Given the description of an element on the screen output the (x, y) to click on. 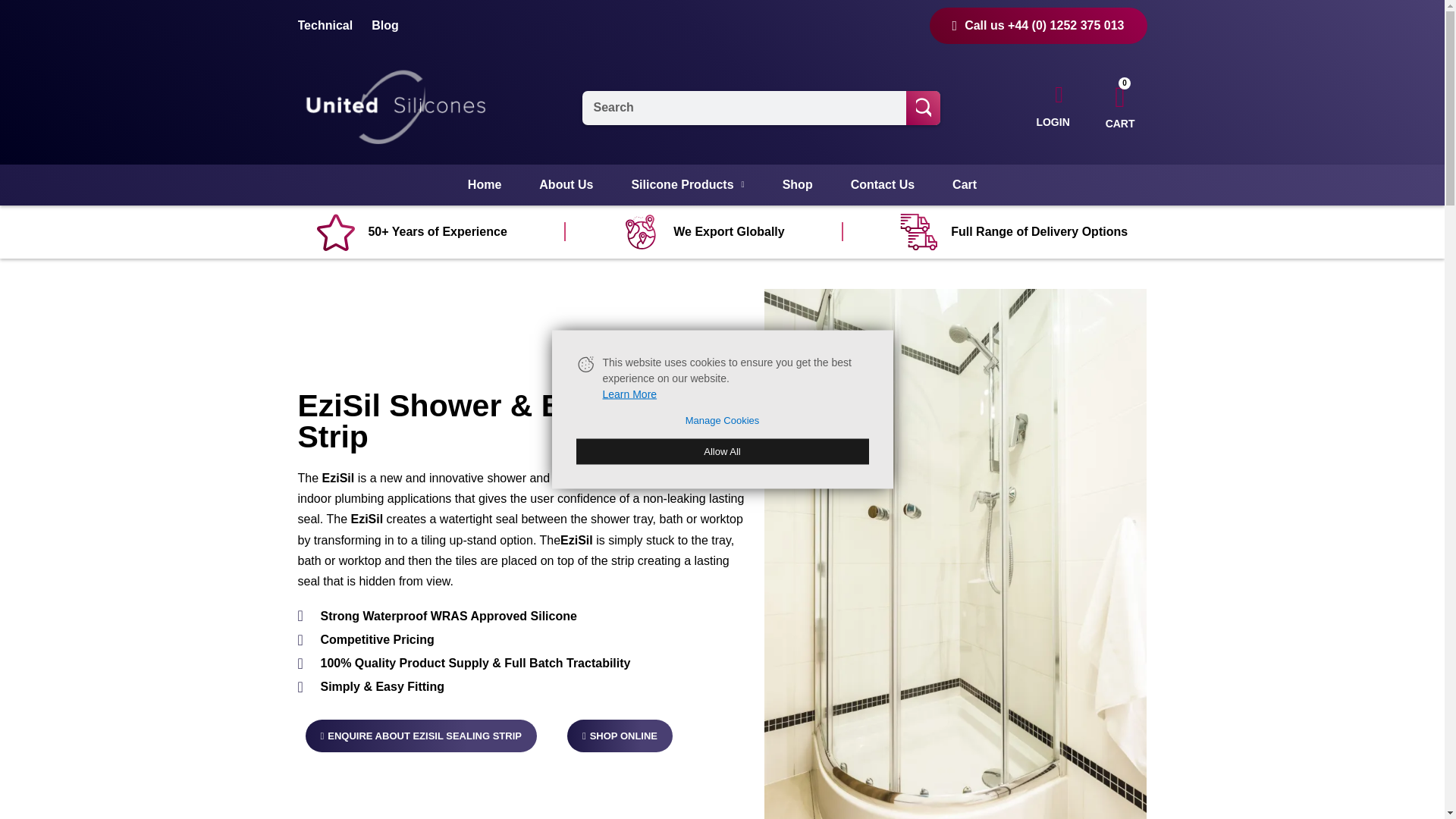
Silicone Products (687, 184)
Contact Us (882, 184)
Technical (324, 25)
About Us (565, 184)
Cart (964, 184)
Home (484, 184)
Blog (384, 25)
Shop (797, 184)
LOGIN (1050, 107)
